Given the description of an element on the screen output the (x, y) to click on. 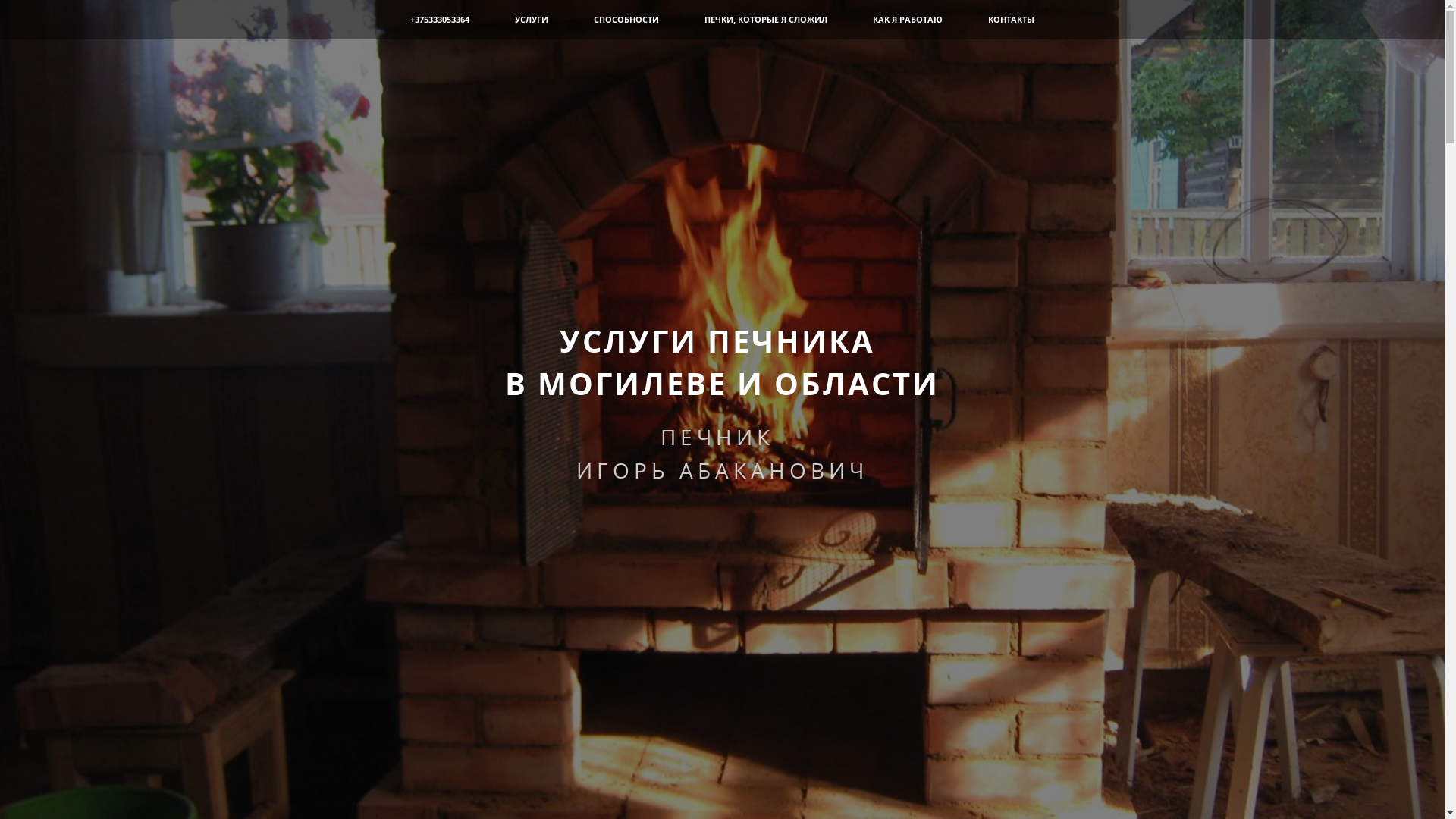
+375333053364 Element type: text (439, 19)
